Given the description of an element on the screen output the (x, y) to click on. 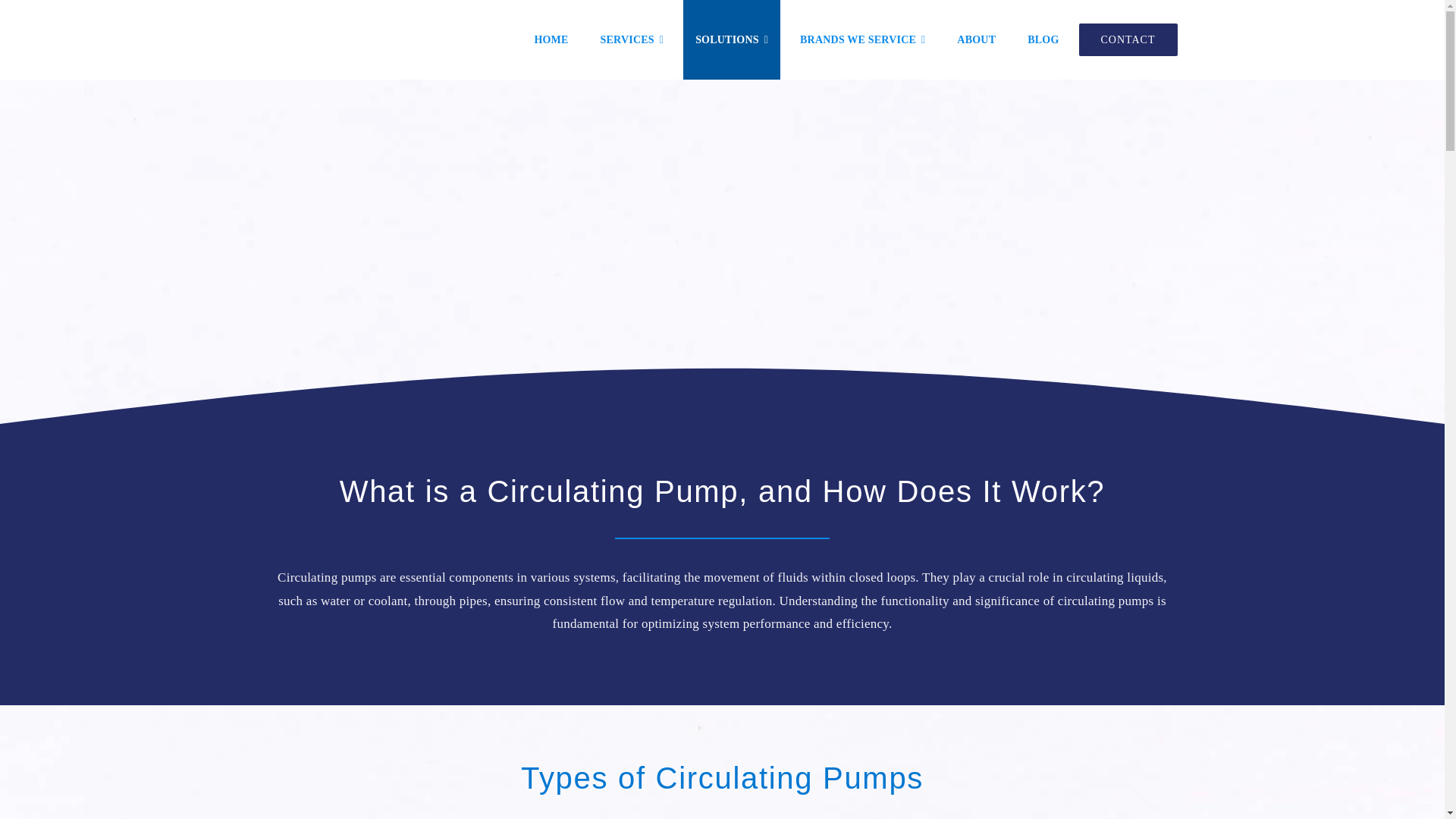
SOLUTIONS (731, 39)
SERVICES (632, 39)
BRANDS WE SERVICE (862, 39)
logo-JMIMECHANICAL-small (356, 39)
